Given the description of an element on the screen output the (x, y) to click on. 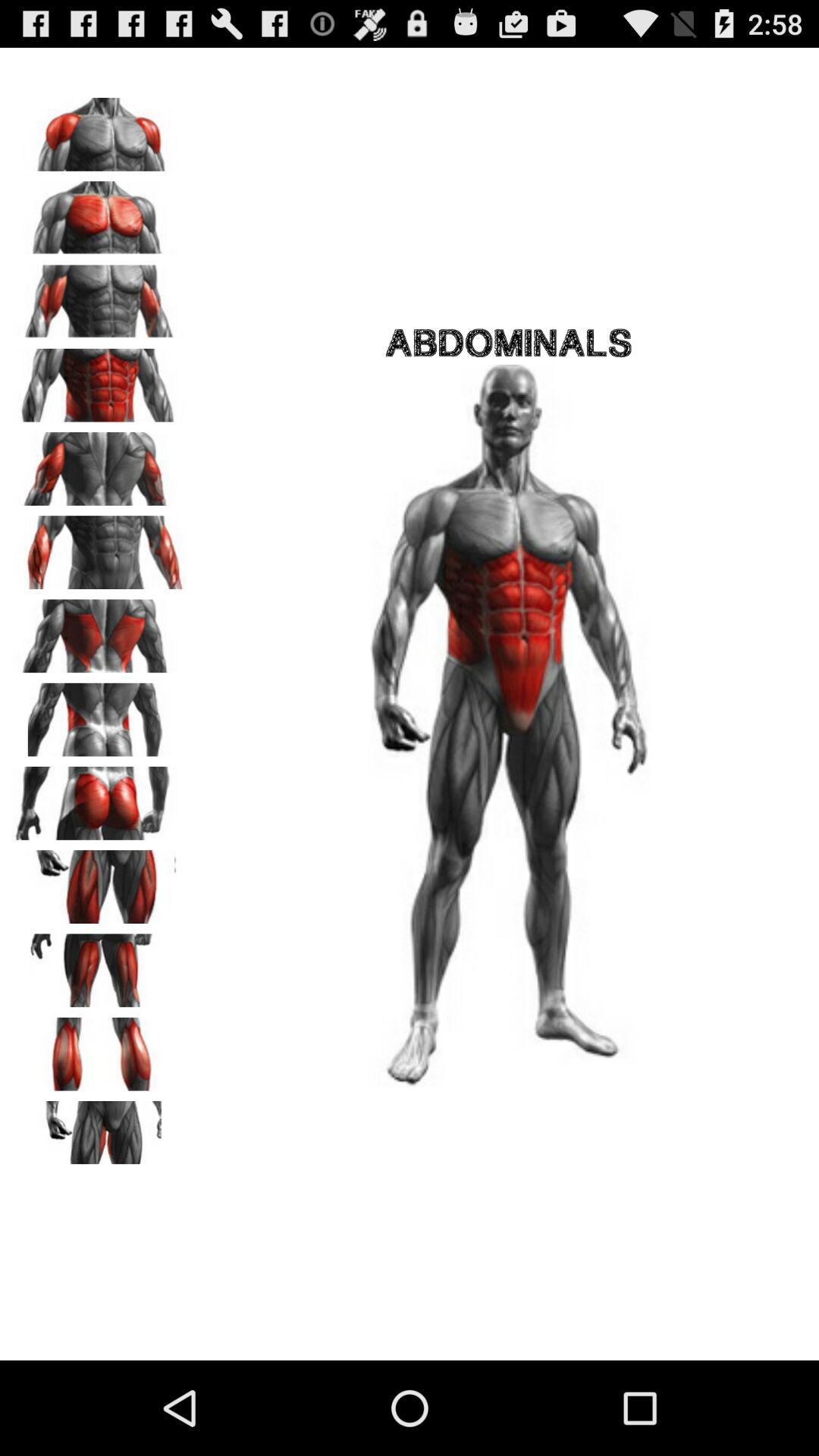
select leg muscle group (99, 965)
